Given the description of an element on the screen output the (x, y) to click on. 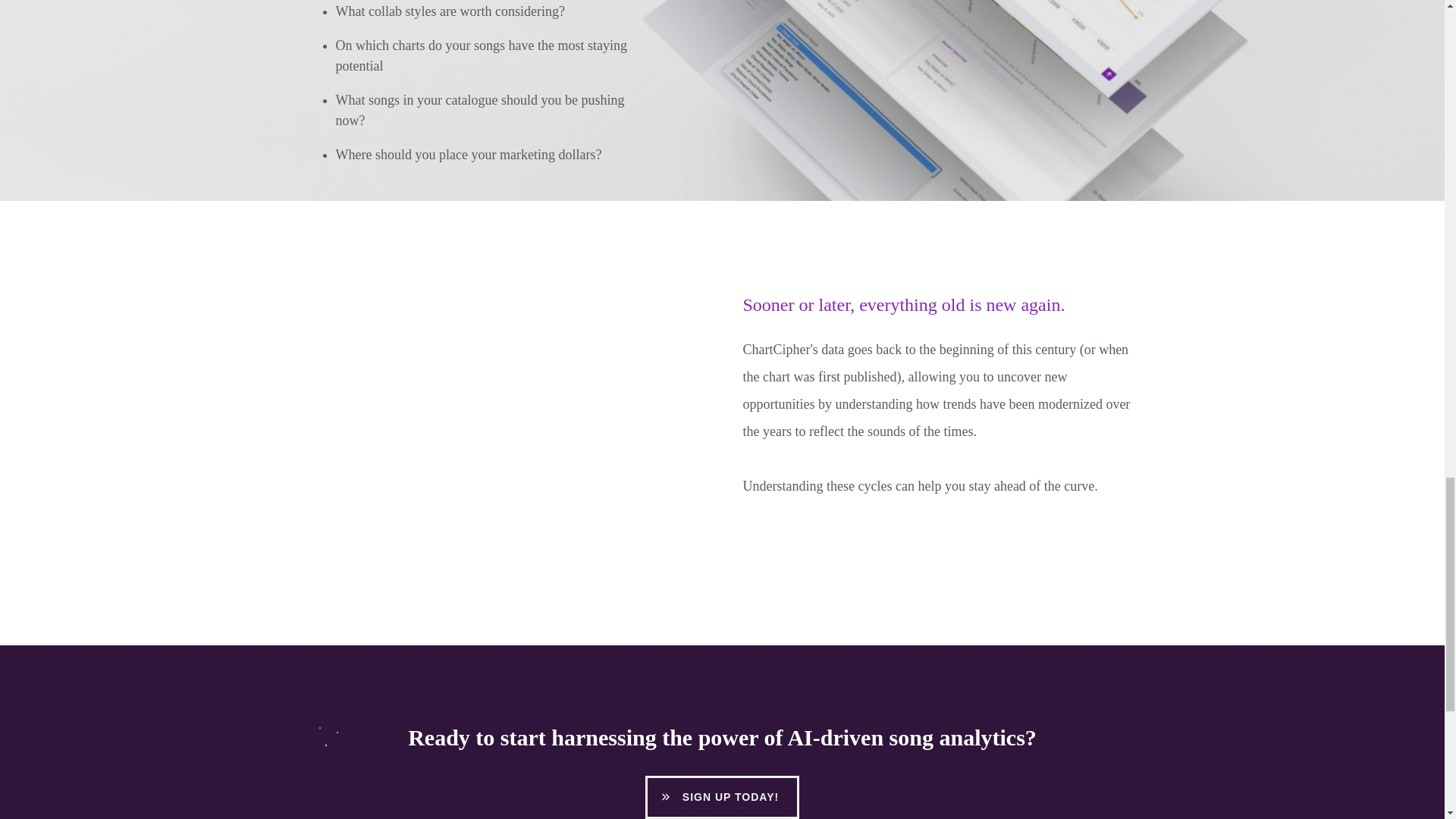
SIGN UP TODAY! (722, 797)
